Given the description of an element on the screen output the (x, y) to click on. 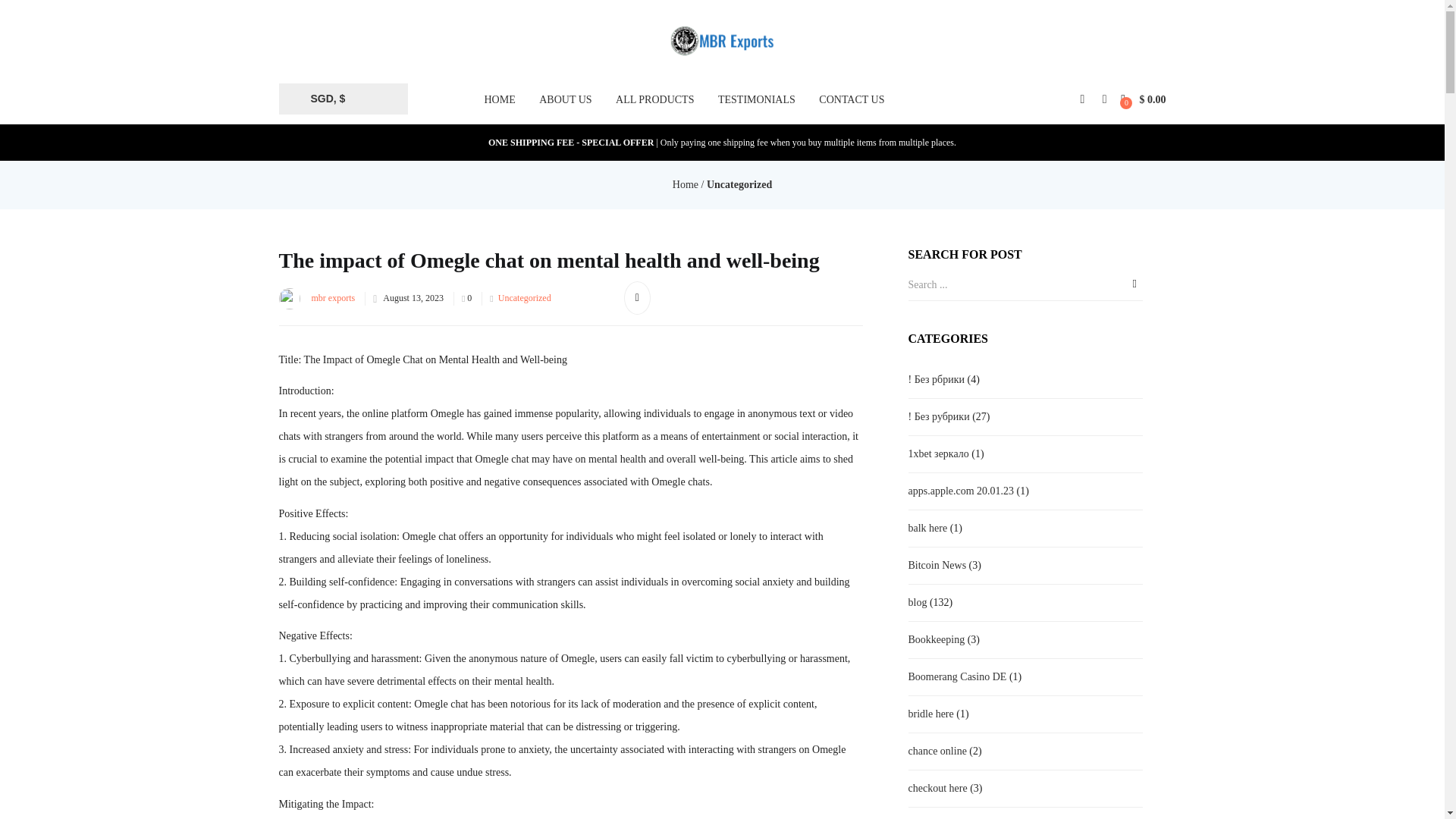
HOME (499, 99)
Posts by mbr exports (333, 297)
Home (685, 184)
ABOUT US (565, 99)
ALL PRODUCTS (654, 99)
TESTIMONIALS (756, 99)
Uncategorized (738, 184)
CONTACT US (851, 99)
View your shopping cart (1143, 99)
